Given the description of an element on the screen output the (x, y) to click on. 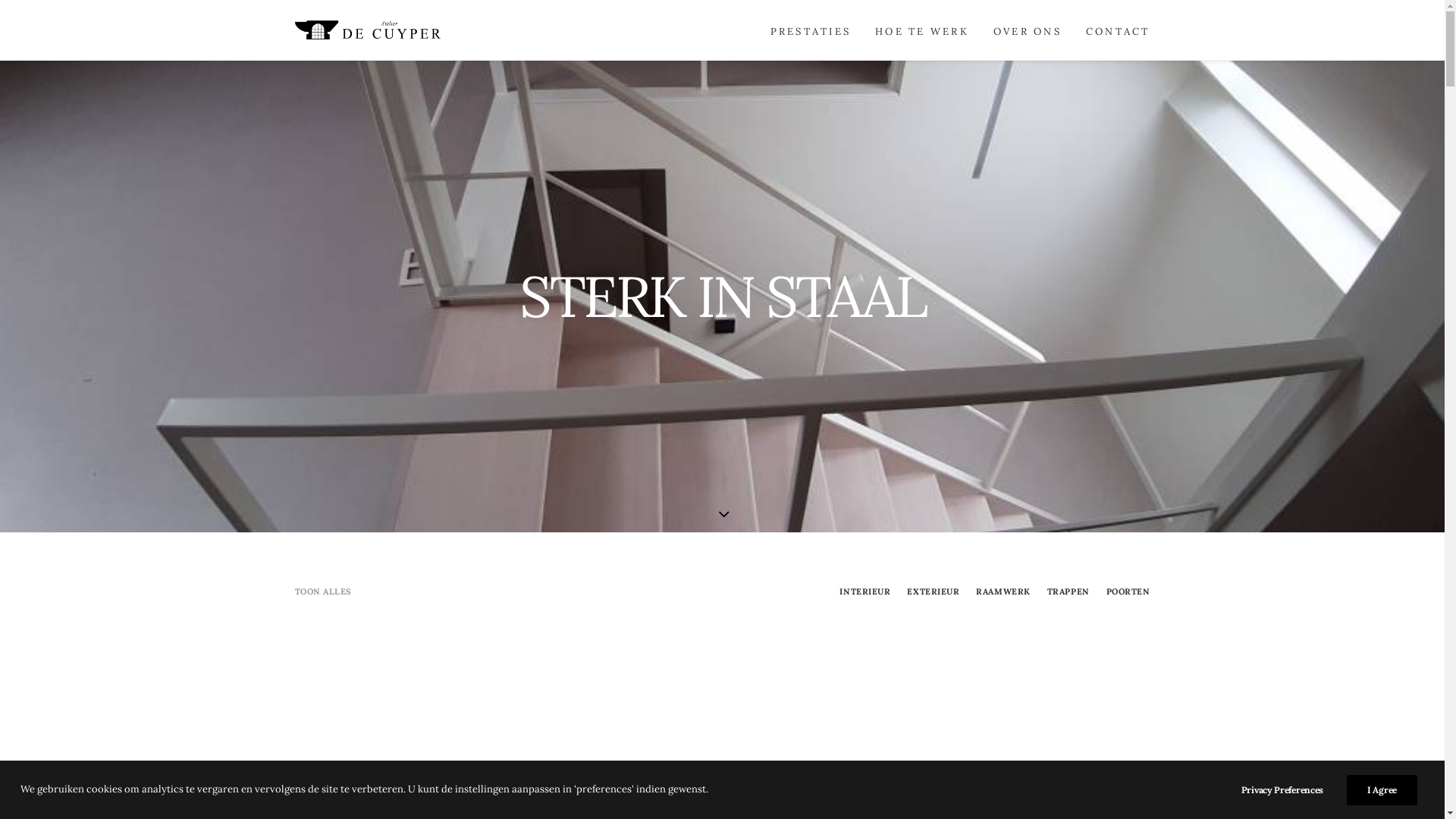
Privacy Preferences Element type: text (1292, 789)
TOON ALLES Element type: text (322, 591)
INTERIEUR Element type: text (864, 591)
CONTACT Element type: text (1112, 29)
EXTERIEUR Element type: text (932, 591)
TRAPPEN Element type: text (1068, 591)
HOE TE WERK Element type: text (921, 29)
I Agree Element type: text (1381, 790)
POORTEN Element type: text (1128, 591)
PRESTATIES Element type: text (810, 29)
RAAMWERK Element type: text (1002, 591)
OVER ONS Element type: text (1027, 29)
